Given the description of an element on the screen output the (x, y) to click on. 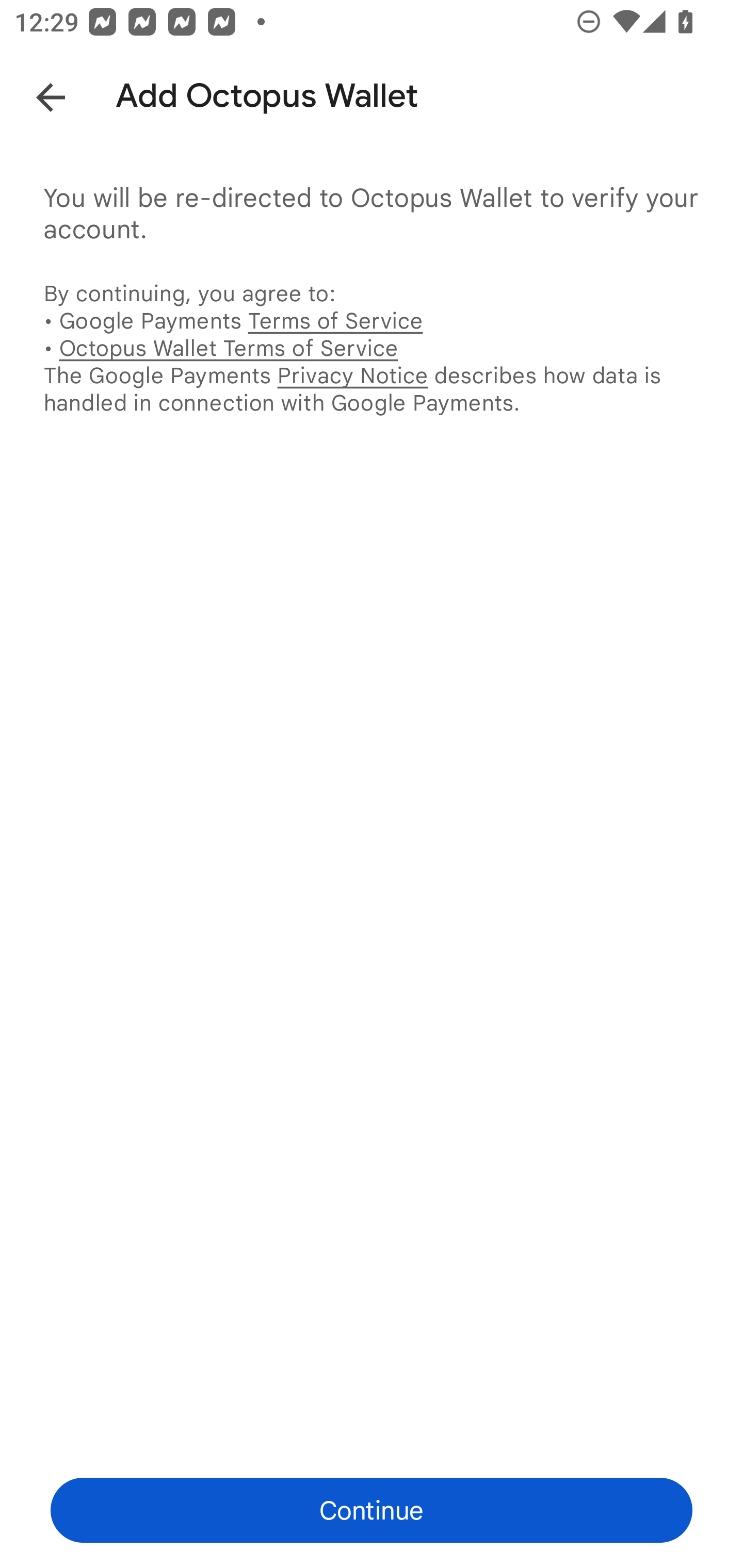
Back (36, 94)
Terms of Service (334, 320)
Octopus Wallet Terms of Service (227, 347)
Privacy Notice (352, 375)
Continue (371, 1510)
